Given the description of an element on the screen output the (x, y) to click on. 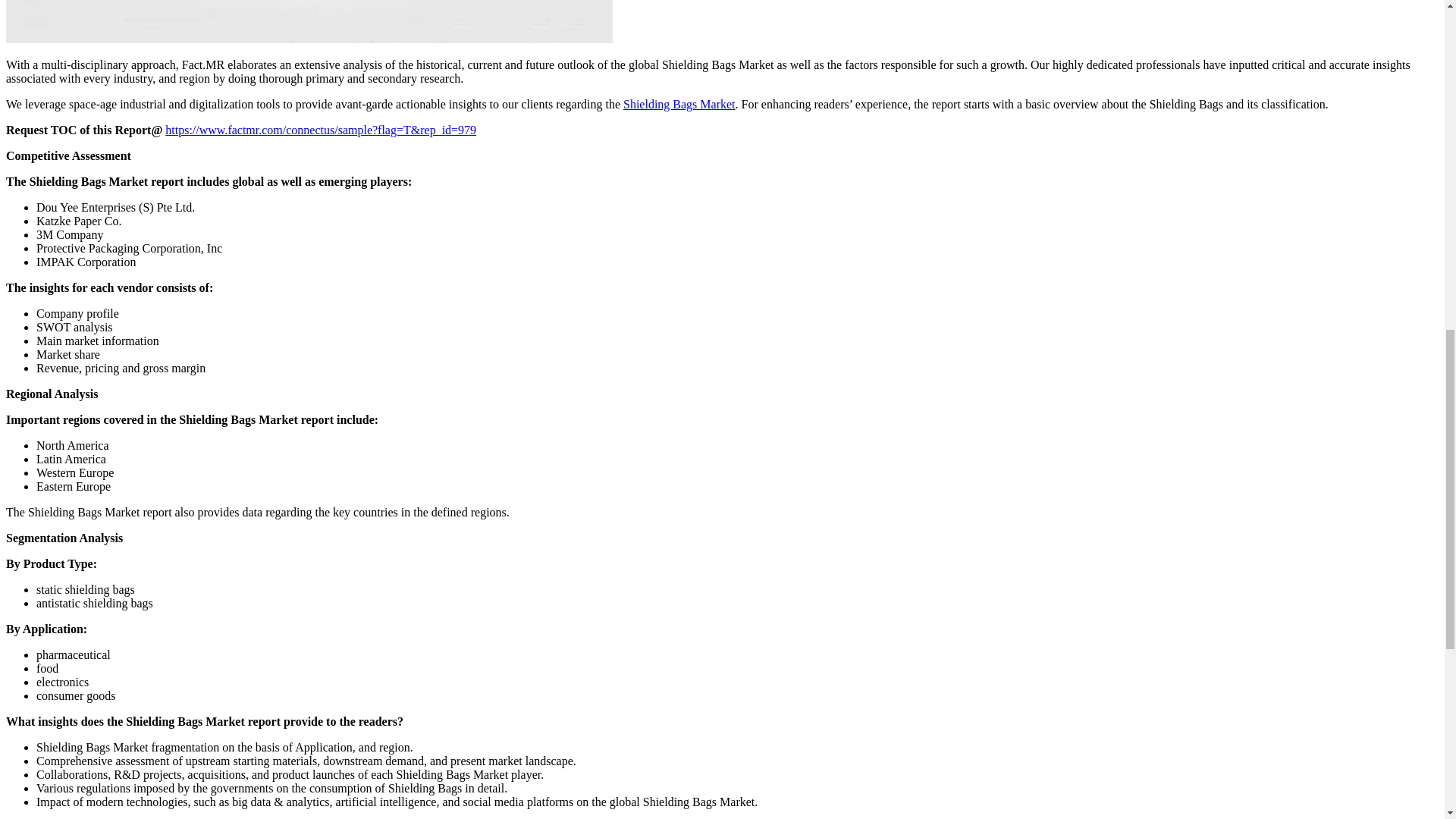
Shielding Bags Market (679, 103)
